Given the description of an element on the screen output the (x, y) to click on. 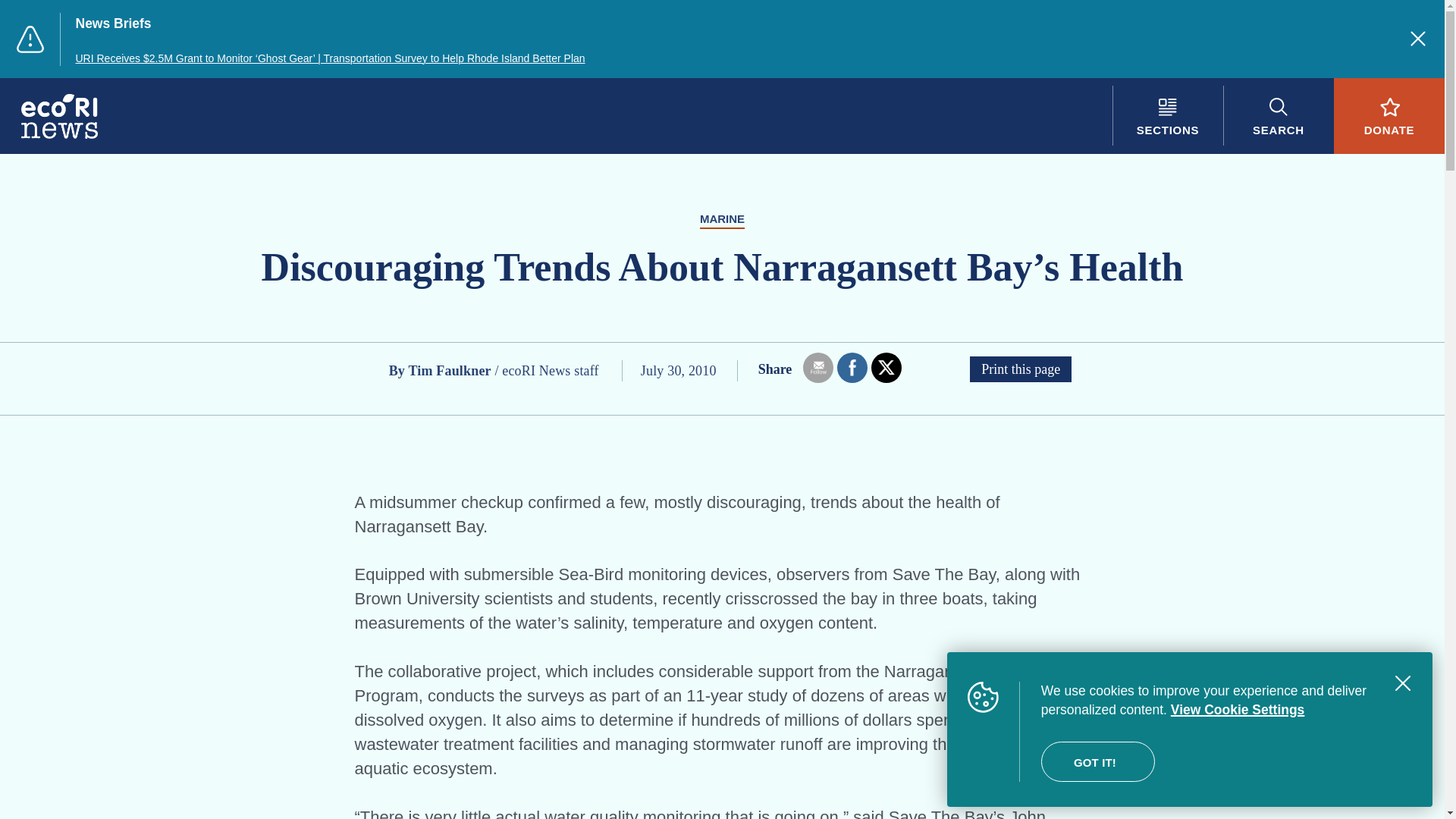
Close view (1402, 683)
Alert (29, 39)
Search Button (1278, 115)
SECTIONS (1167, 115)
Facebook (852, 367)
Close (1417, 38)
Twitter (886, 367)
